Given the description of an element on the screen output the (x, y) to click on. 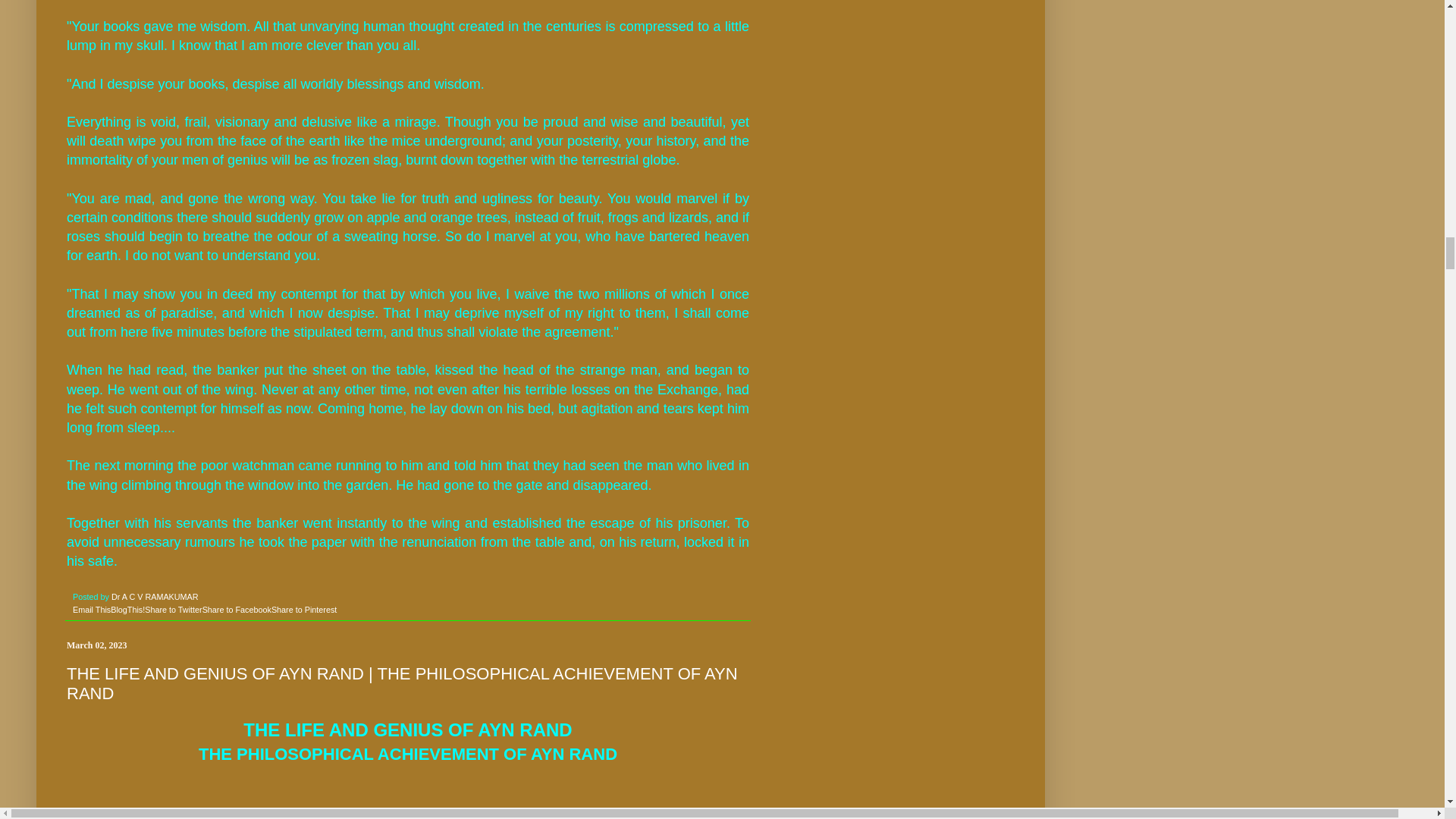
Email This (91, 609)
Share to Facebook (236, 609)
BlogThis! (127, 609)
Share to Twitter (173, 609)
author profile (155, 596)
Dr A C V RAMAKUMAR (155, 596)
Share to Twitter (173, 609)
Share to Facebook (236, 609)
Share to Pinterest (303, 609)
Email This (91, 609)
BlogThis! (127, 609)
